Given the description of an element on the screen output the (x, y) to click on. 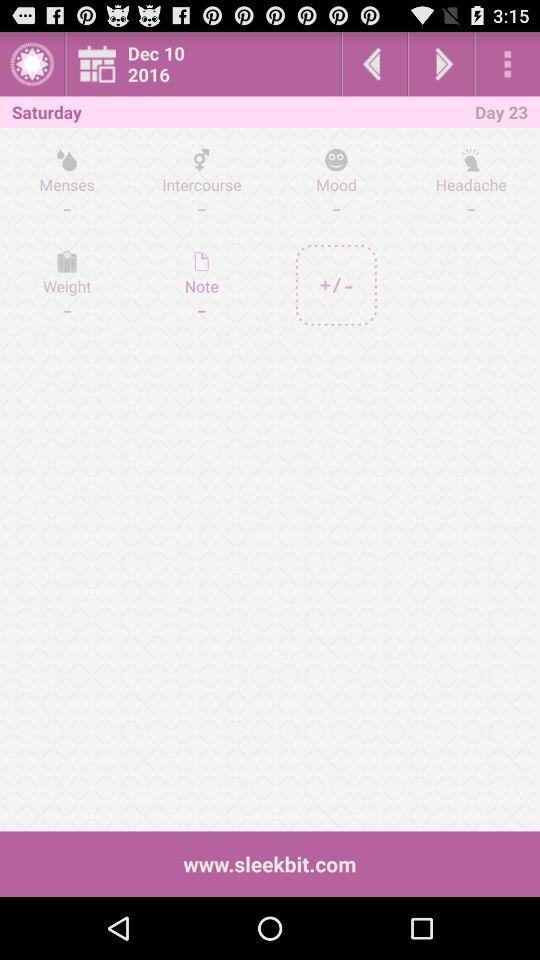
go back (374, 63)
